Given the description of an element on the screen output the (x, y) to click on. 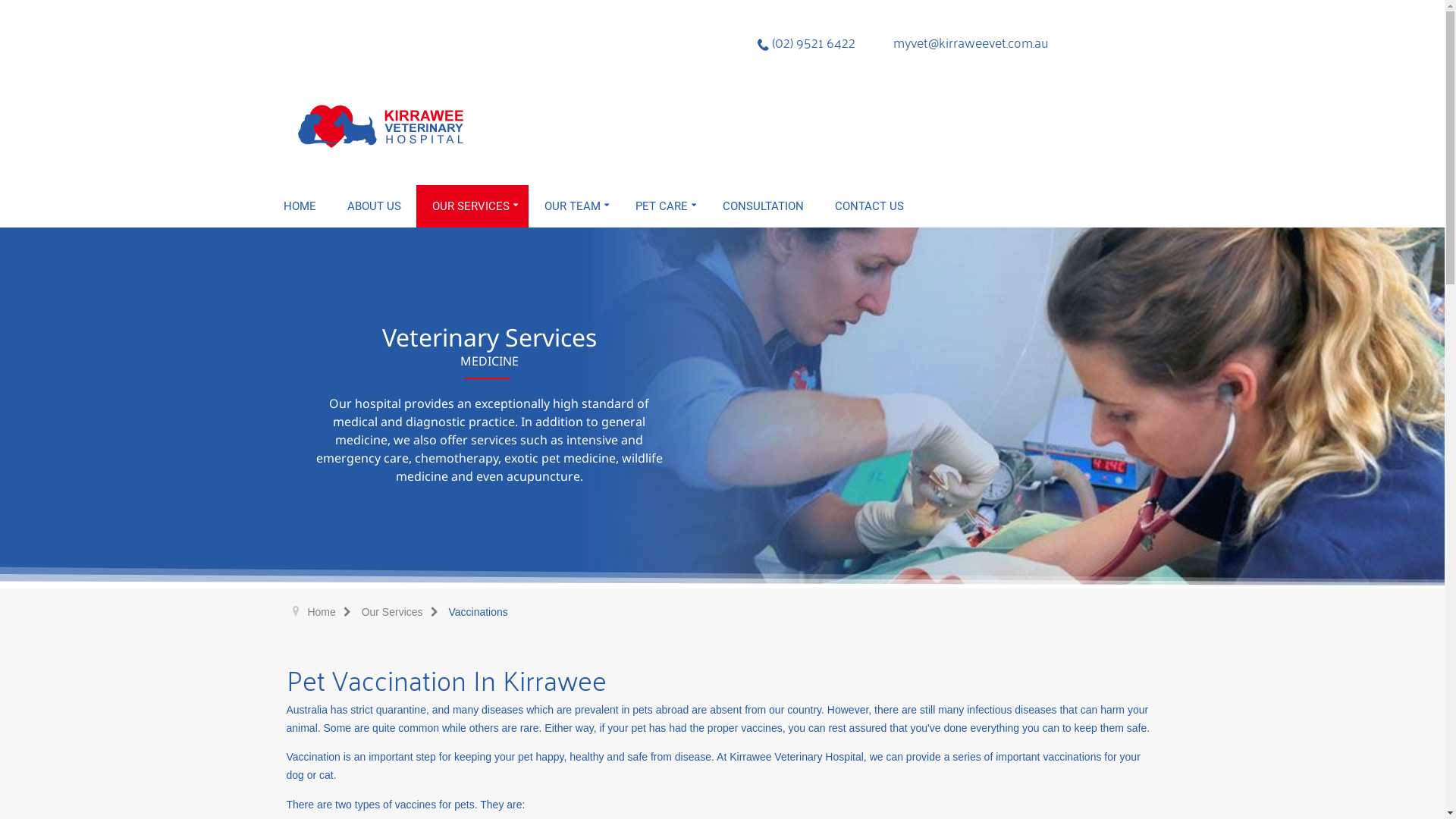
HOME Element type: text (299, 206)
Our Services Element type: text (403, 611)
CONTACT US Element type: text (868, 206)
CONSULTATION Element type: text (762, 206)
ABOUT US Element type: text (374, 206)
PET CARE Element type: text (663, 206)
OUR TEAM Element type: text (574, 206)
Home Element type: text (332, 611)
OUR SERVICES Element type: text (472, 206)
